Given the description of an element on the screen output the (x, y) to click on. 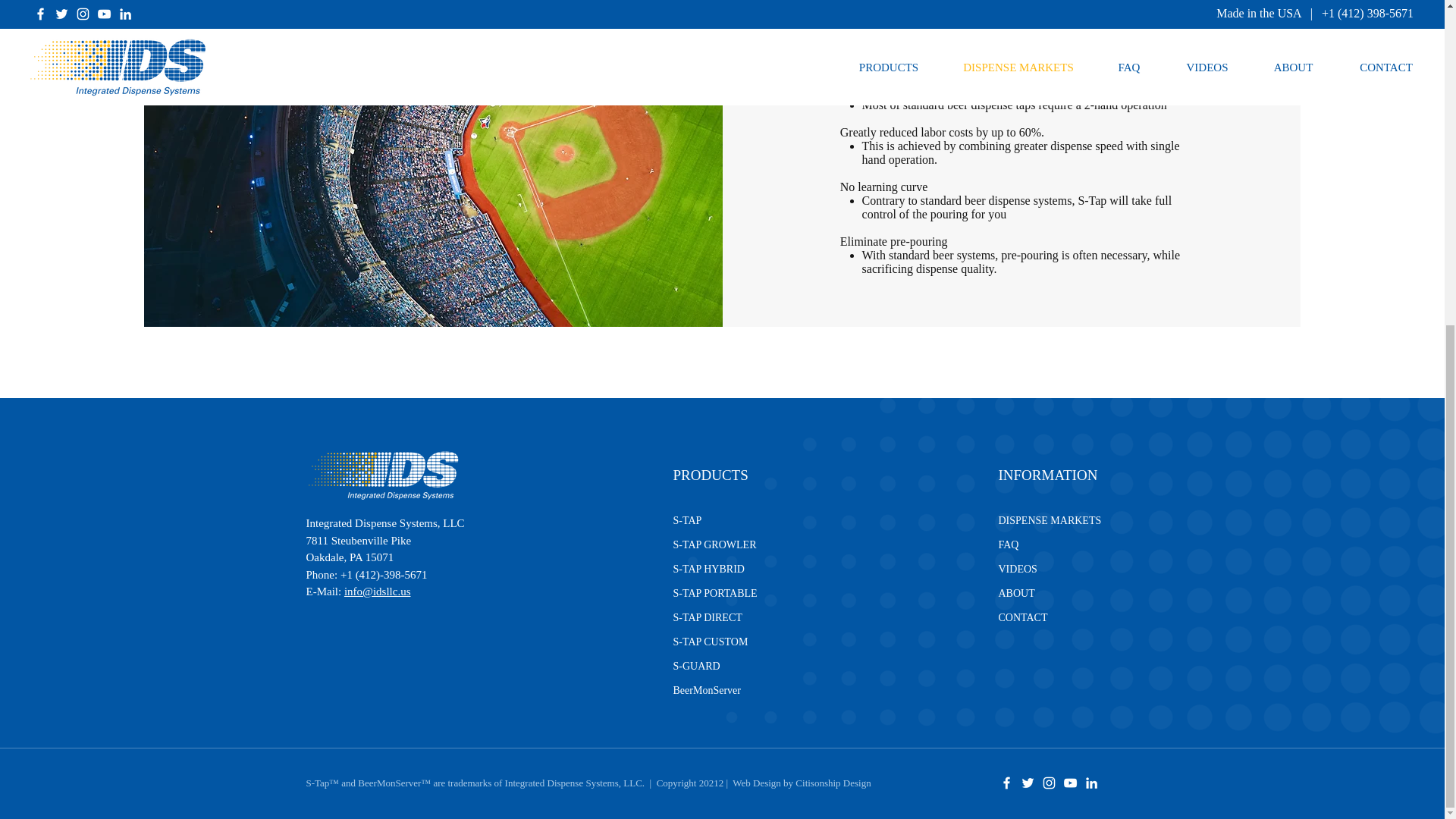
S-TAP GROWLER (714, 544)
BeerMonServer (706, 690)
S-TAP DIRECT (707, 617)
S-TAP CUSTOM (710, 641)
FAQ (1007, 544)
S-TAP PORTABLE (714, 593)
DISPENSE MARKETS (1048, 520)
ABOUT (1015, 593)
VIDEOS (1016, 568)
CONTACT (1021, 617)
